Given the description of an element on the screen output the (x, y) to click on. 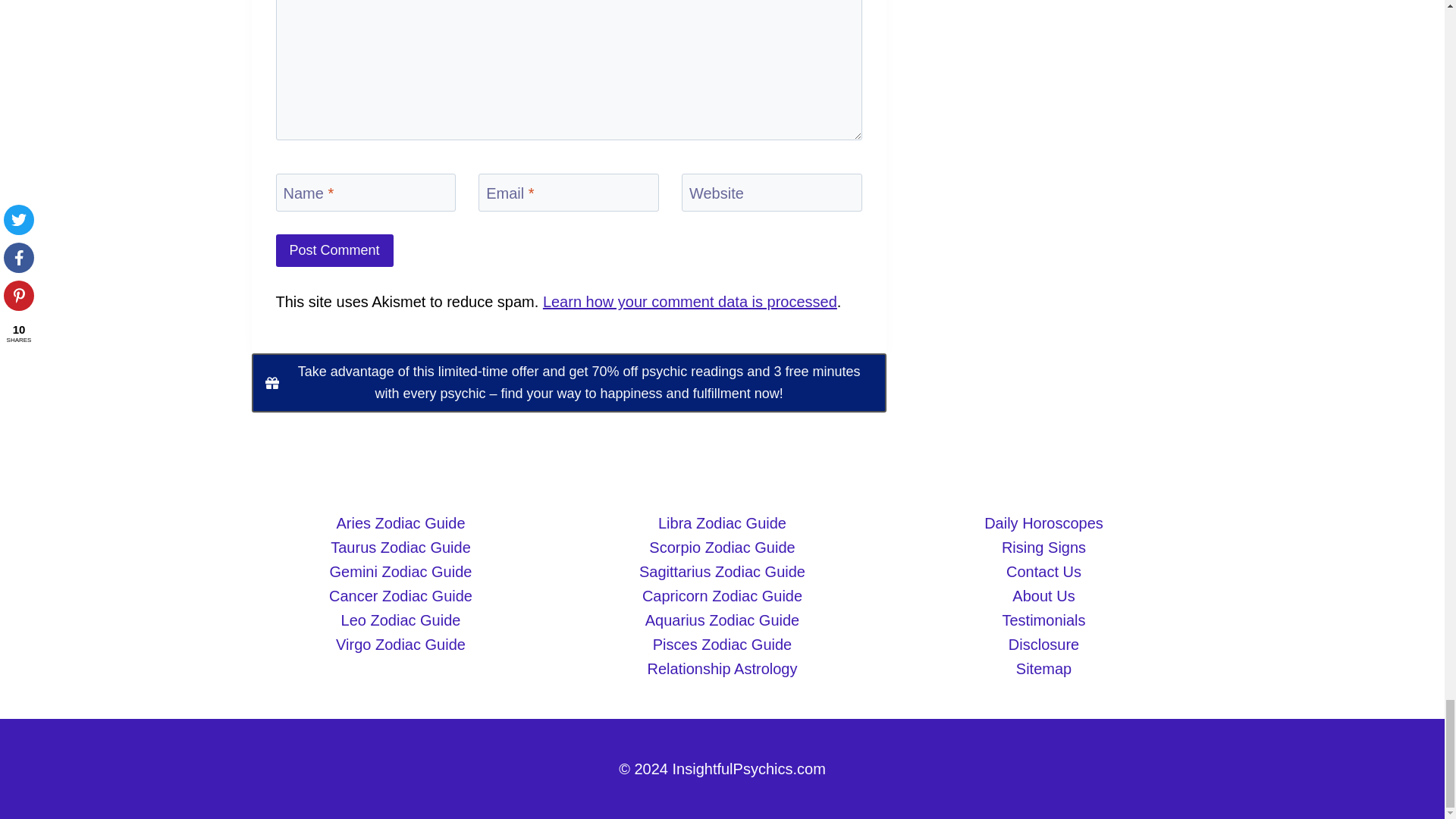
Post Comment (334, 250)
